Given the description of an element on the screen output the (x, y) to click on. 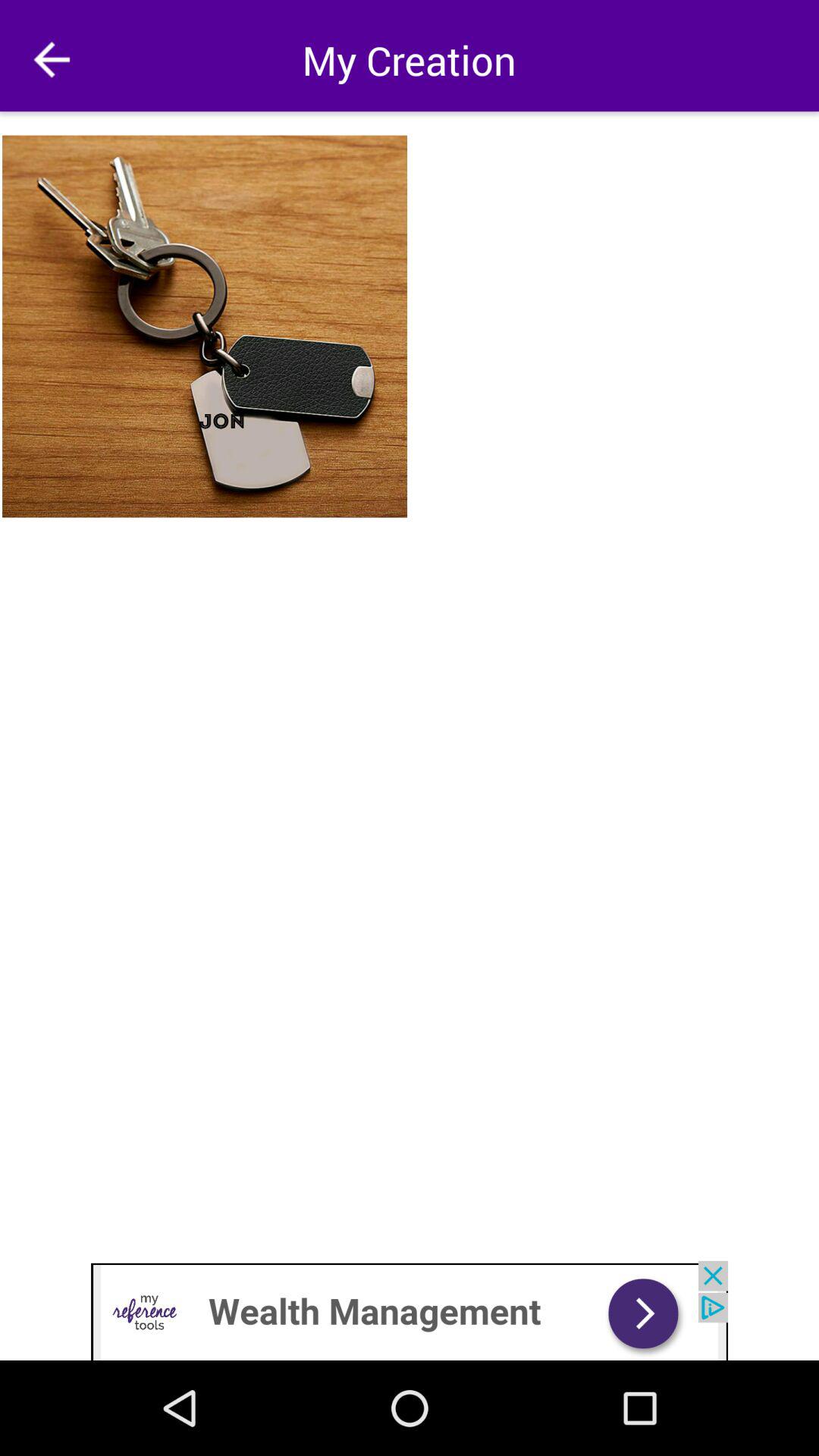
open advertisement (409, 1310)
